Given the description of an element on the screen output the (x, y) to click on. 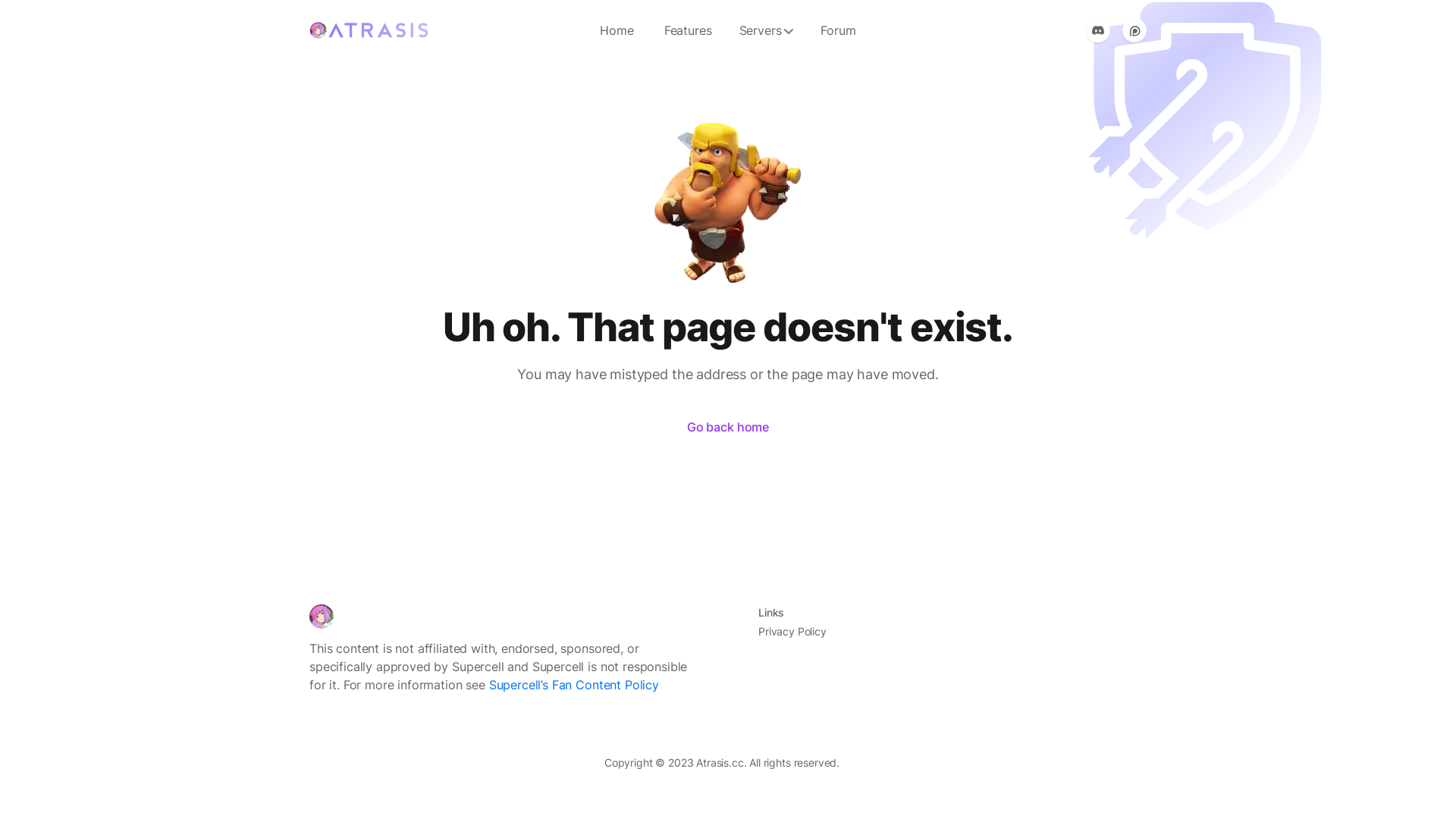
Features Element type: text (688, 30)
Privacy Policy Element type: text (792, 630)
Go back home Element type: text (727, 426)
Home Element type: text (616, 30)
Servers Element type: text (766, 30)
Forum Element type: text (837, 30)
